Given the description of an element on the screen output the (x, y) to click on. 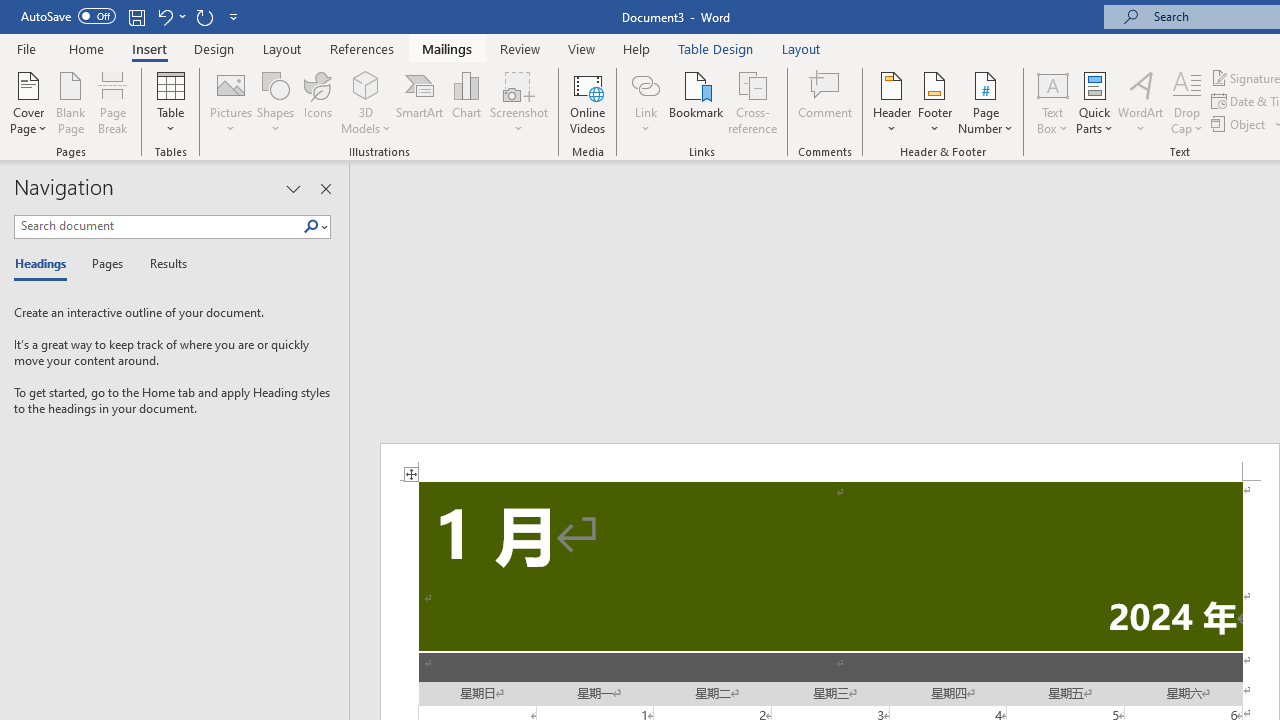
Drop Cap (1187, 102)
Shapes (275, 102)
Page Break (113, 102)
Page Number (986, 102)
Undo Increase Indent (164, 15)
SmartArt... (419, 102)
Cross-reference... (752, 102)
Object... (1240, 124)
Repeat Doc Close (204, 15)
